Given the description of an element on the screen output the (x, y) to click on. 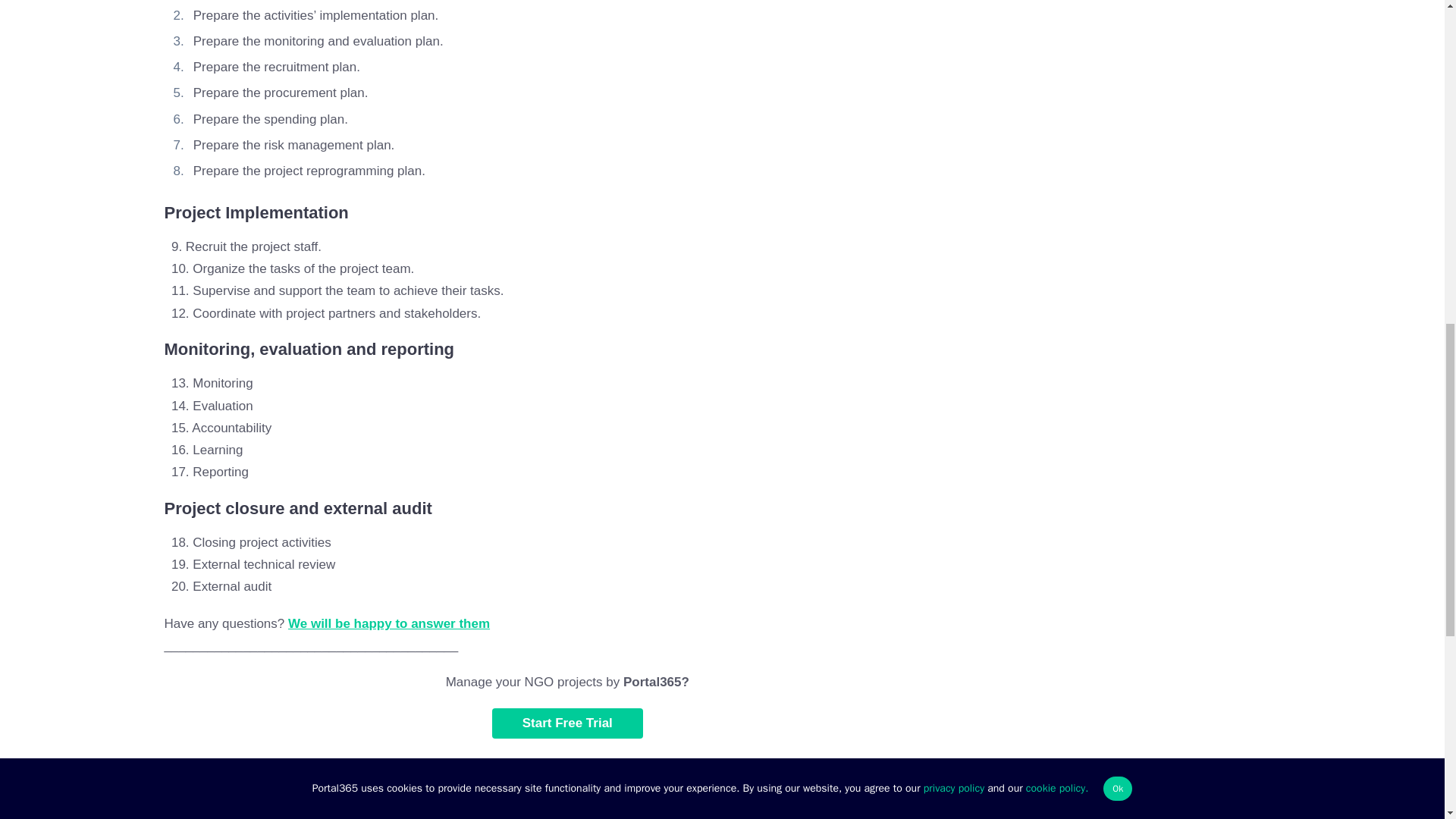
Start Free Trial (567, 723)
We will be happy to answer them (388, 623)
